Given the description of an element on the screen output the (x, y) to click on. 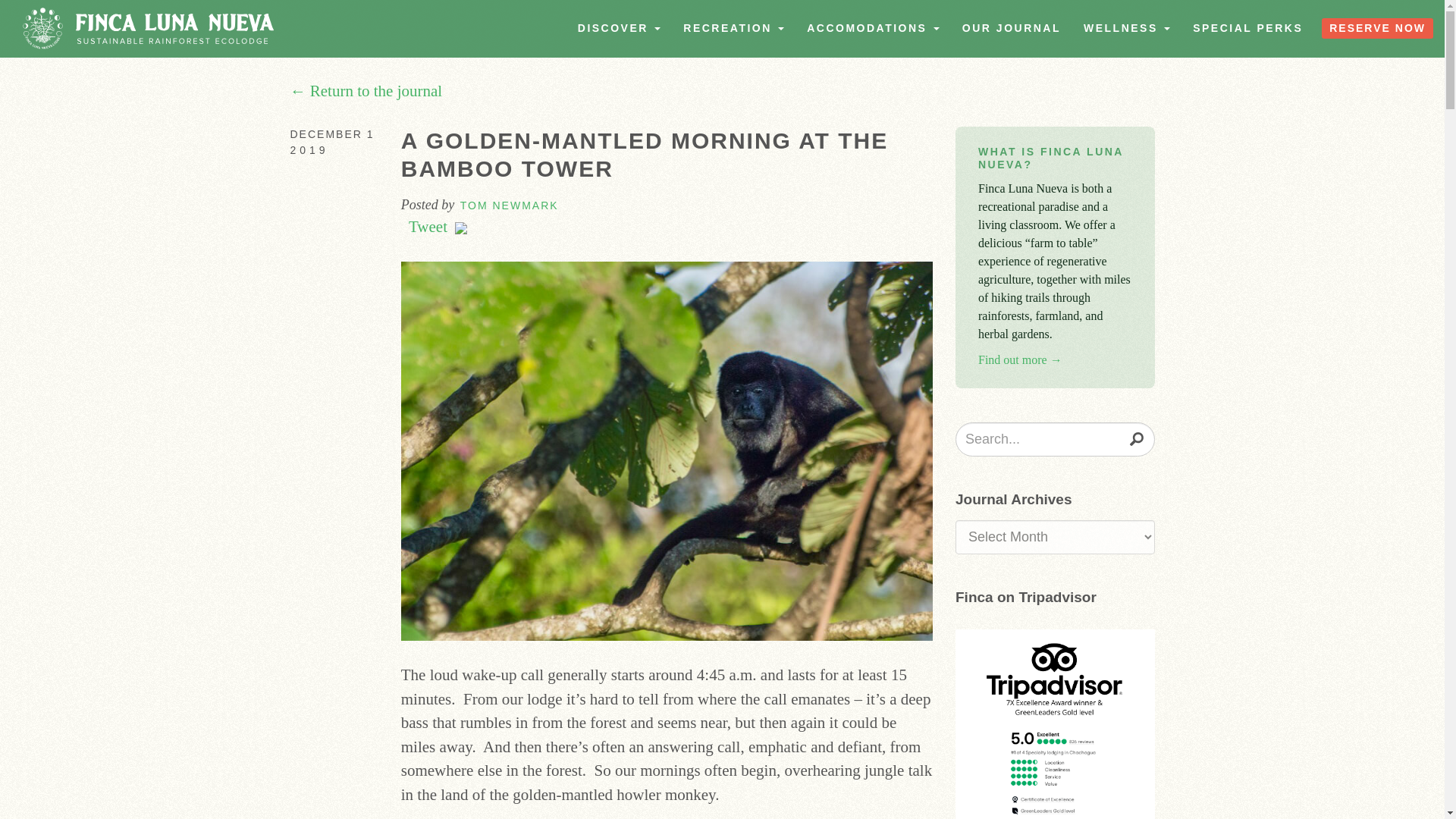
OUR JOURNAL (1010, 28)
ACCOMODATIONS (872, 28)
Recreation (732, 28)
RECREATION (732, 28)
TOM NEWMARK (509, 204)
RESERVE NOW (1377, 28)
WELLNESS (1125, 28)
SPECIAL PERKS (1247, 28)
Discover (619, 28)
Accomodations (872, 28)
